Given the description of an element on the screen output the (x, y) to click on. 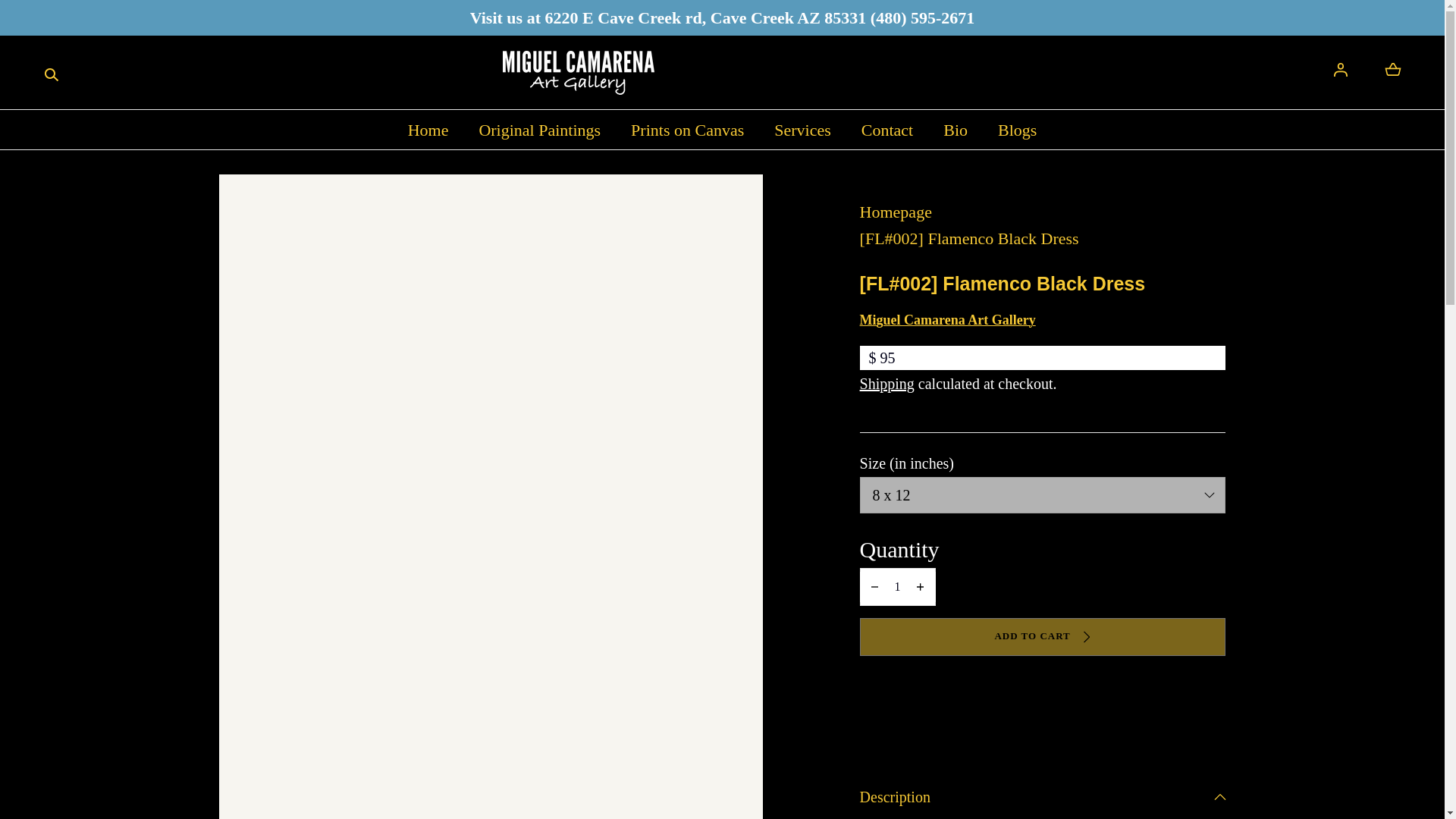
Services (802, 129)
Miguel Camarena Art Gallery (577, 72)
Original Paintings (539, 129)
Prints on Canvas (687, 129)
Shipping (887, 383)
SKIP TO CONTENT (80, 18)
1 (898, 587)
Blogs (1016, 129)
Home (427, 129)
Contact (886, 129)
Homepage (1042, 212)
